Given the description of an element on the screen output the (x, y) to click on. 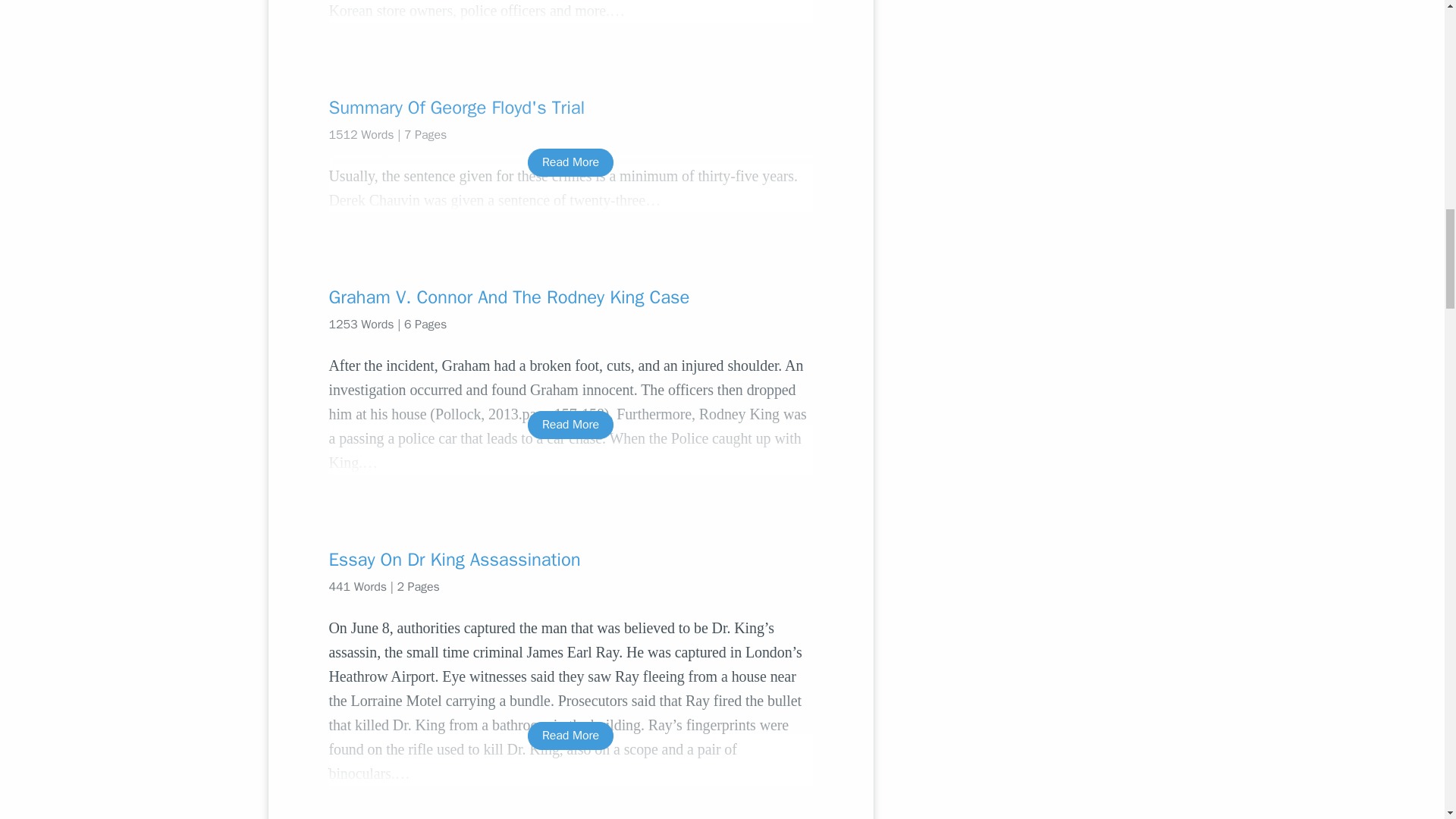
Read More (569, 735)
Graham V. Connor And The Rodney King Case (570, 297)
Read More (569, 424)
Read More (569, 162)
Summary Of George Floyd's Trial (570, 107)
Essay On Dr King Assassination (570, 559)
